Given the description of an element on the screen output the (x, y) to click on. 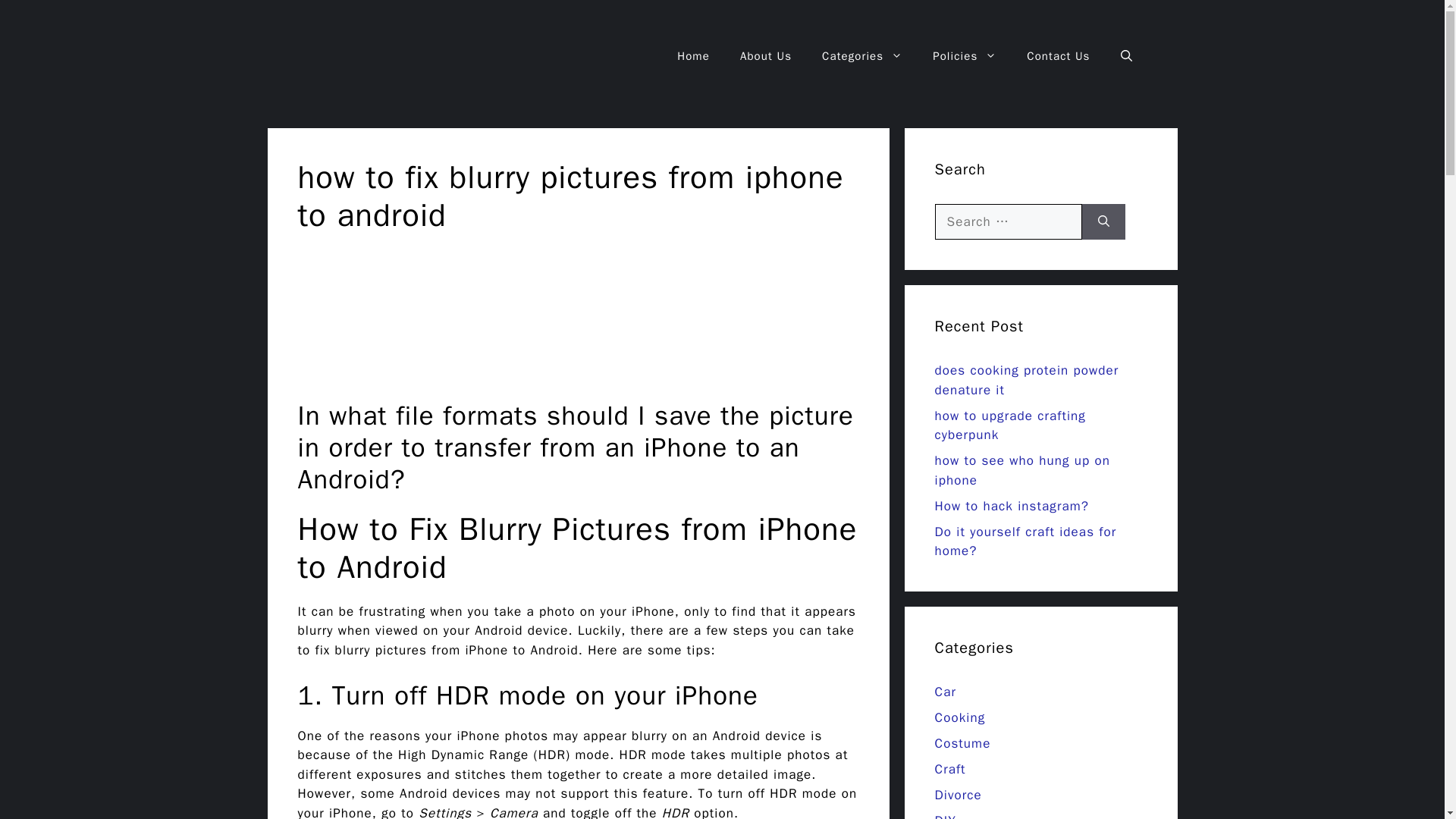
How to hack instagram? (1010, 505)
Craft (949, 769)
About Us (765, 55)
how to upgrade crafting cyberpunk (1009, 425)
Do it yourself craft ideas for home? (1025, 541)
Home (693, 55)
how to see who hung up on iphone (1021, 470)
Cooking (959, 717)
Car (944, 691)
Costume (962, 743)
